Given the description of an element on the screen output the (x, y) to click on. 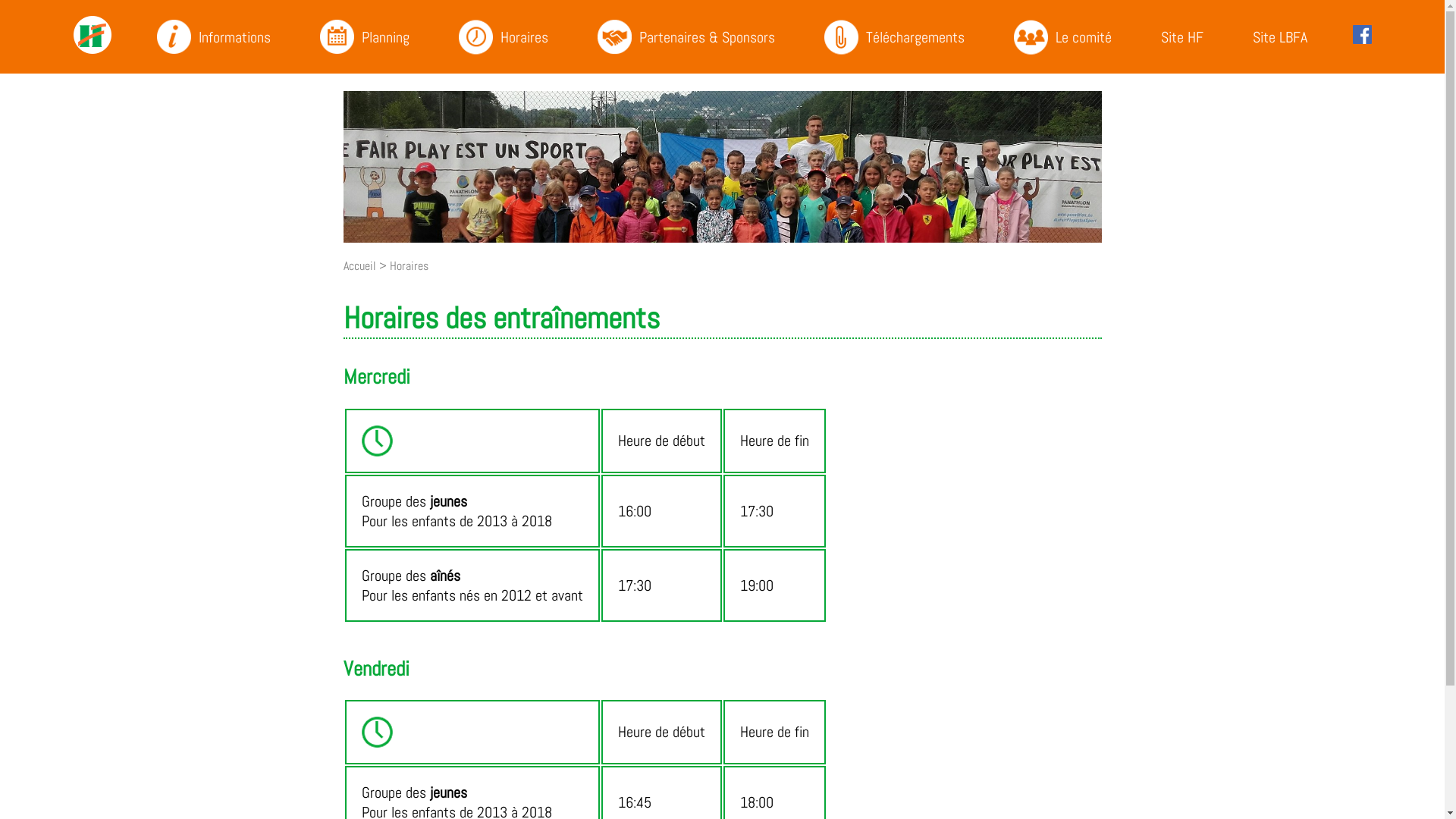
Site LBFA Element type: text (1281, 35)
Accueil Element type: text (358, 265)
Horaires Element type: text (408, 265)
Site HF Element type: text (1184, 35)
Informations Element type: text (215, 35)
Horaires Element type: text (505, 35)
Partenaires & Sponsors Element type: text (687, 35)
Planning Element type: text (365, 35)
